Given the description of an element on the screen output the (x, y) to click on. 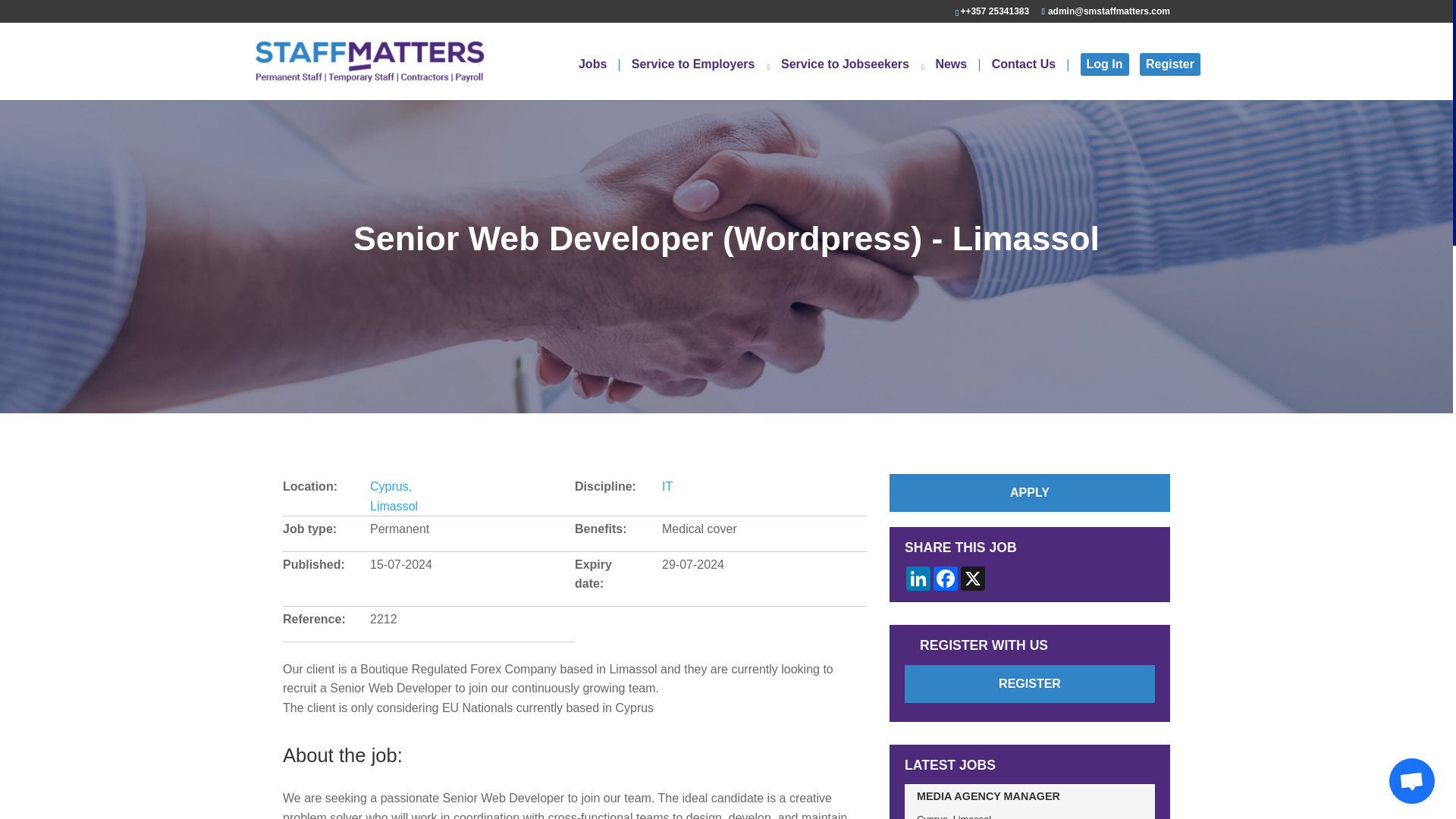
Register (1169, 64)
News (956, 78)
Log In (1104, 64)
StaffMatters Recruitment (369, 60)
Service to Employers (700, 78)
Jobs (599, 78)
Contact Us (1029, 78)
Service to Jobseekers (852, 78)
